Given the description of an element on the screen output the (x, y) to click on. 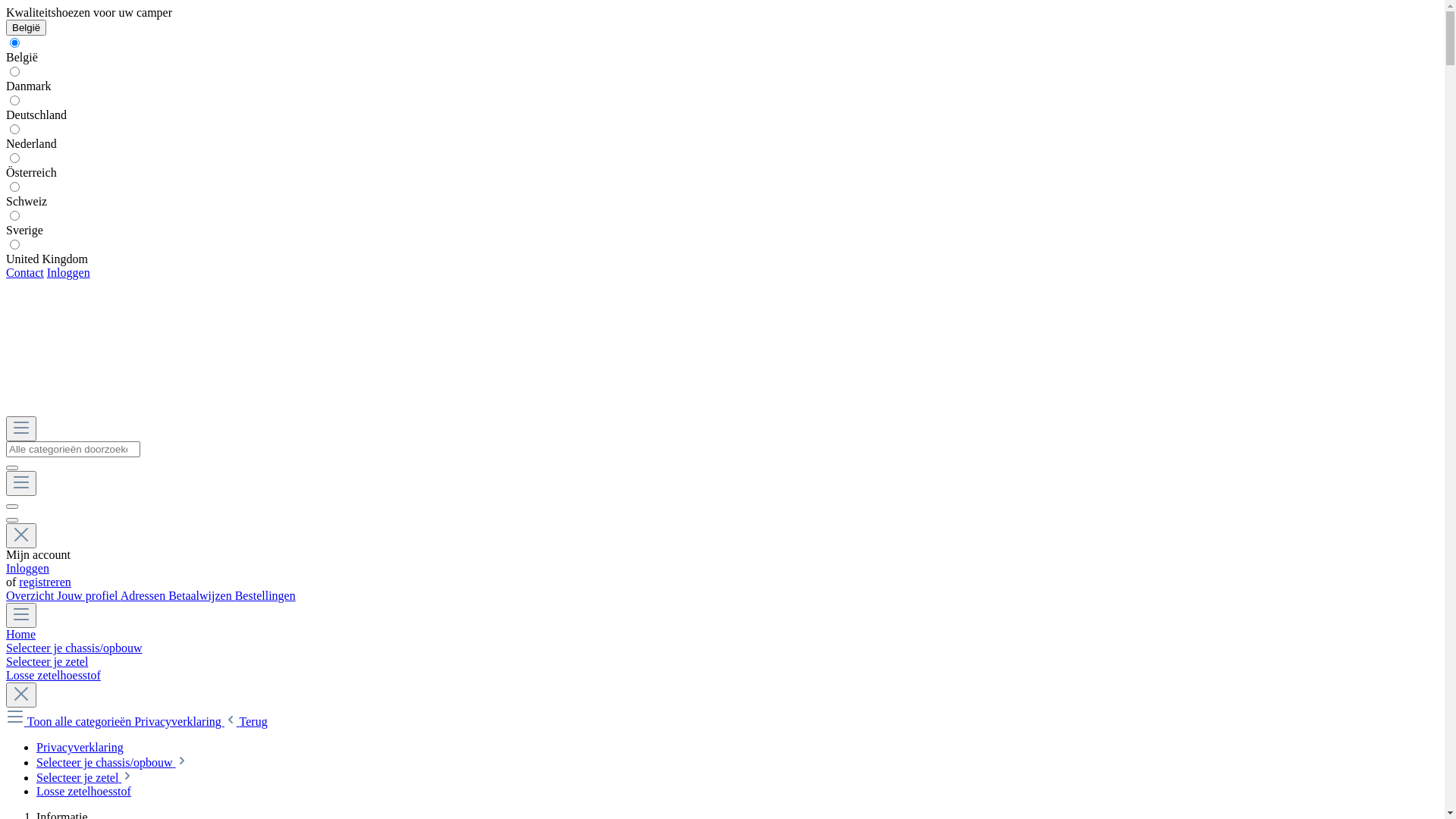
Selecteer je chassis/opbouw Element type: text (722, 648)
Inloggen Element type: text (68, 272)
Inloggen Element type: text (27, 567)
Losse zetelhoesstof Element type: text (722, 675)
Losse zetelhoesstof Element type: text (83, 790)
Privacyverklaring Element type: text (179, 721)
Bestellingen Element type: text (265, 595)
Naar de startpagina Element type: hover (722, 408)
Selecteer je chassis/opbouw Element type: text (112, 762)
Betaalwijzen Element type: text (201, 595)
Privacyverklaring Element type: text (79, 746)
Contact Element type: text (24, 272)
Selecteer je zetel Element type: text (84, 777)
Selecteer je zetel Element type: text (722, 661)
Terug Element type: text (245, 721)
Adressen Element type: text (144, 595)
Jouw profiel Element type: text (88, 595)
Overzicht Element type: text (31, 595)
registreren Element type: text (44, 581)
Home Element type: text (722, 634)
